Given the description of an element on the screen output the (x, y) to click on. 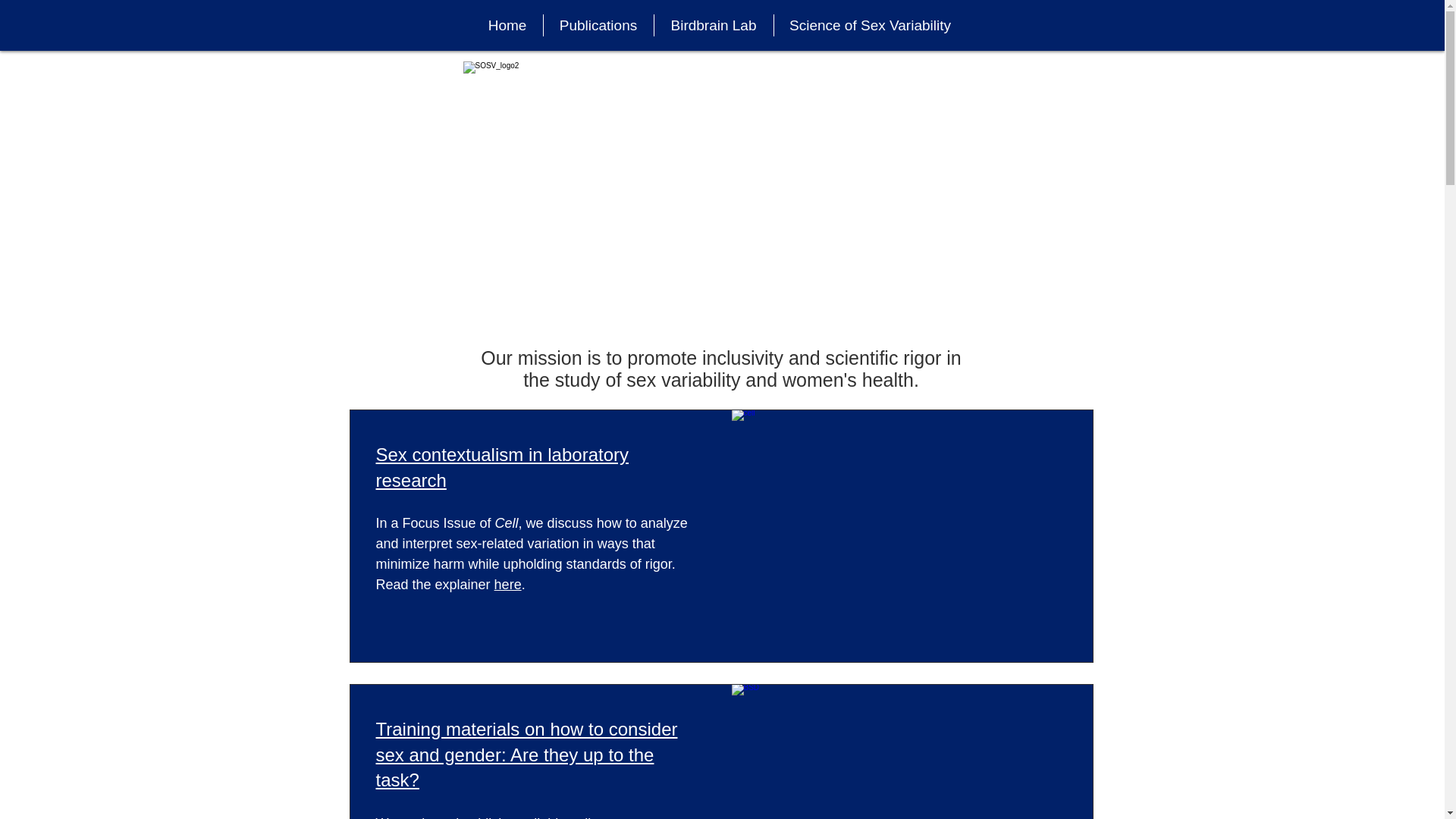
Home (506, 25)
Sex contextualism in laboratory research (501, 467)
Science of Sex Variability (869, 25)
Birdbrain Lab (713, 25)
Publications (597, 25)
here (508, 584)
